Given the description of an element on the screen output the (x, y) to click on. 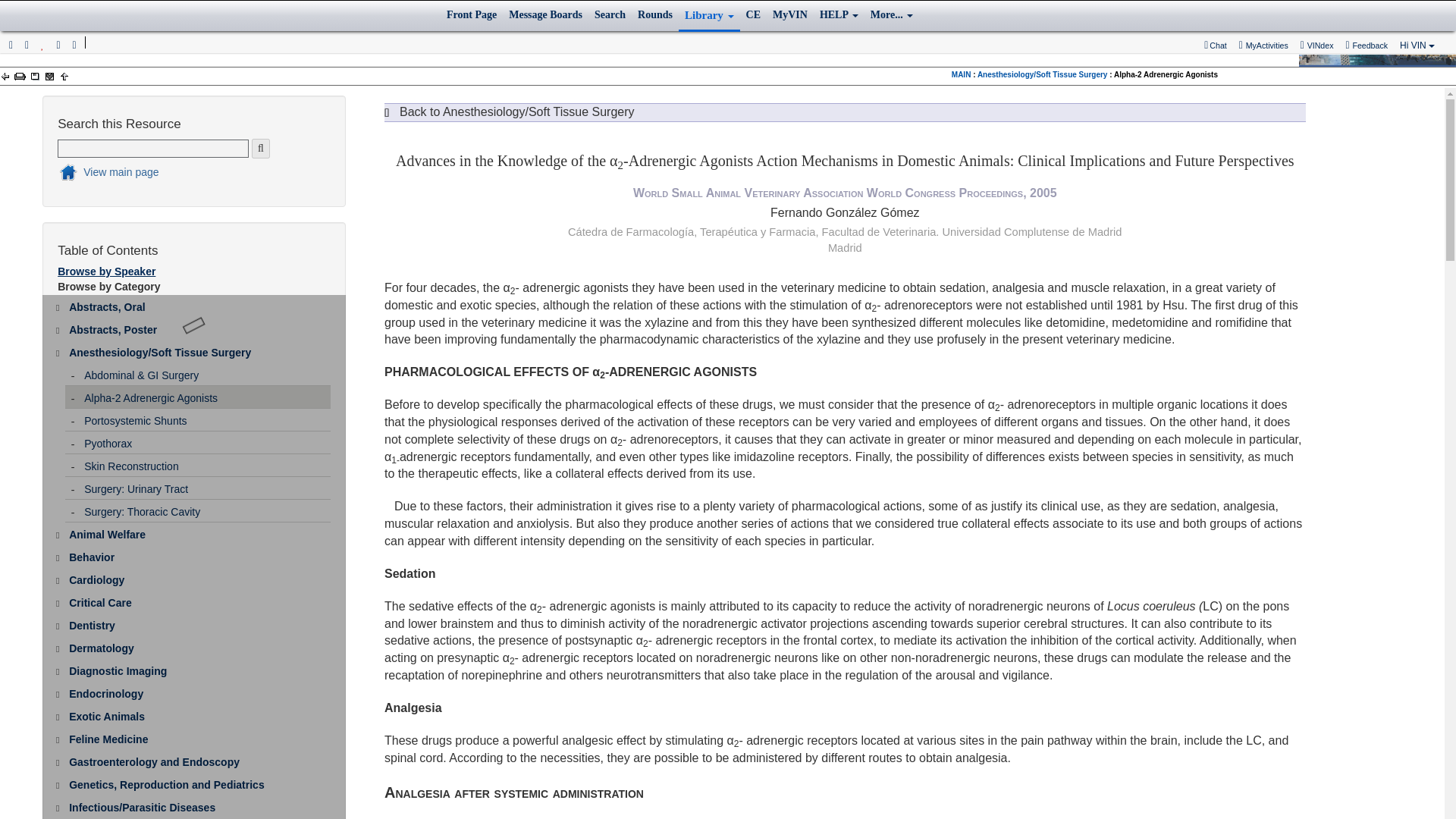
Rounds (654, 14)
Front Page (471, 14)
VINDEX (1317, 44)
My Activities (1263, 45)
VIN Chat (1215, 45)
Message Boards (545, 14)
Feedback (1365, 44)
Search (609, 14)
Library (708, 15)
